Given the description of an element on the screen output the (x, y) to click on. 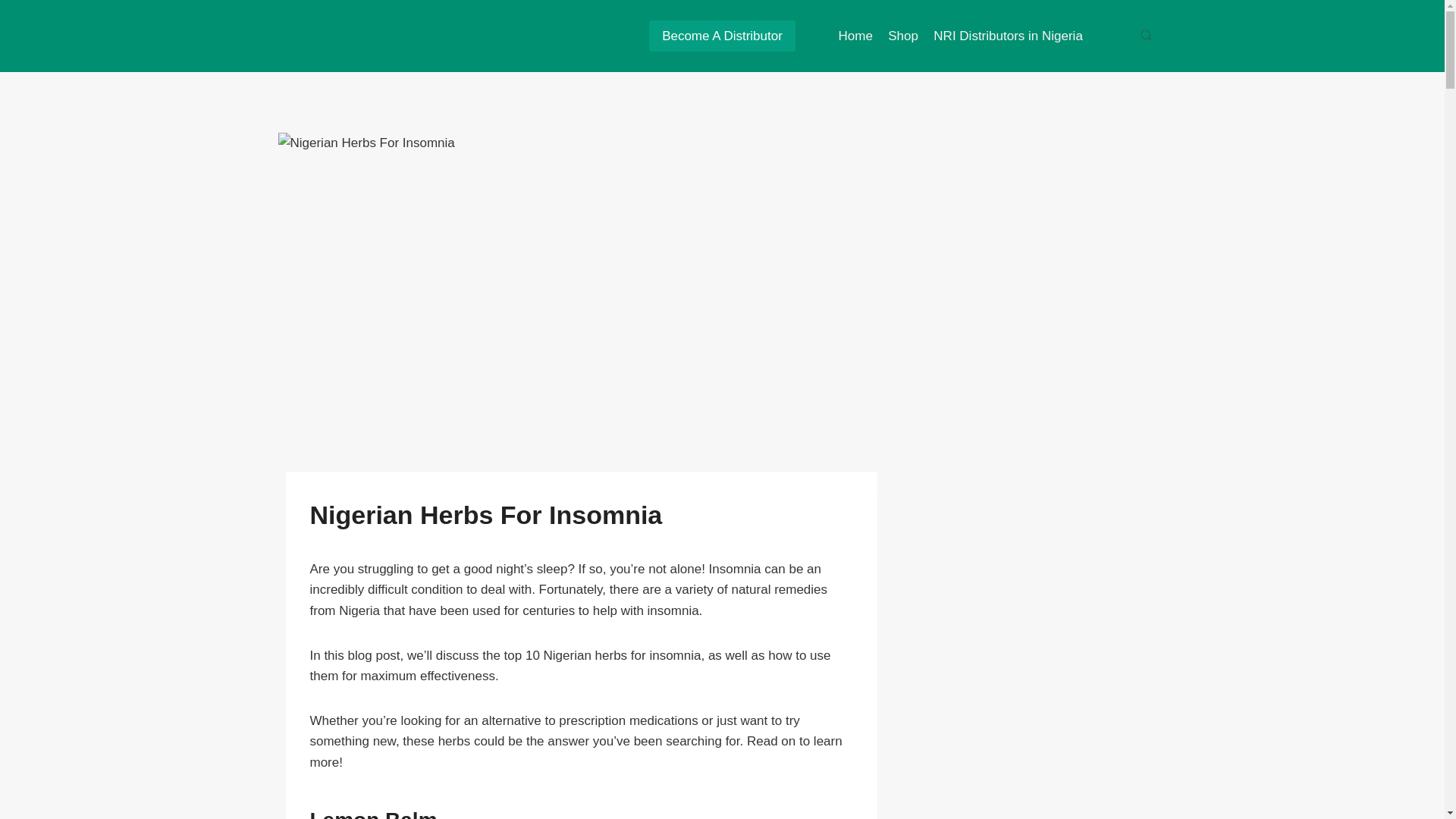
Become A Distributor (721, 35)
How to Join Nri (959, 108)
NRI Distributors in Nigeria (1008, 36)
